Given the description of an element on the screen output the (x, y) to click on. 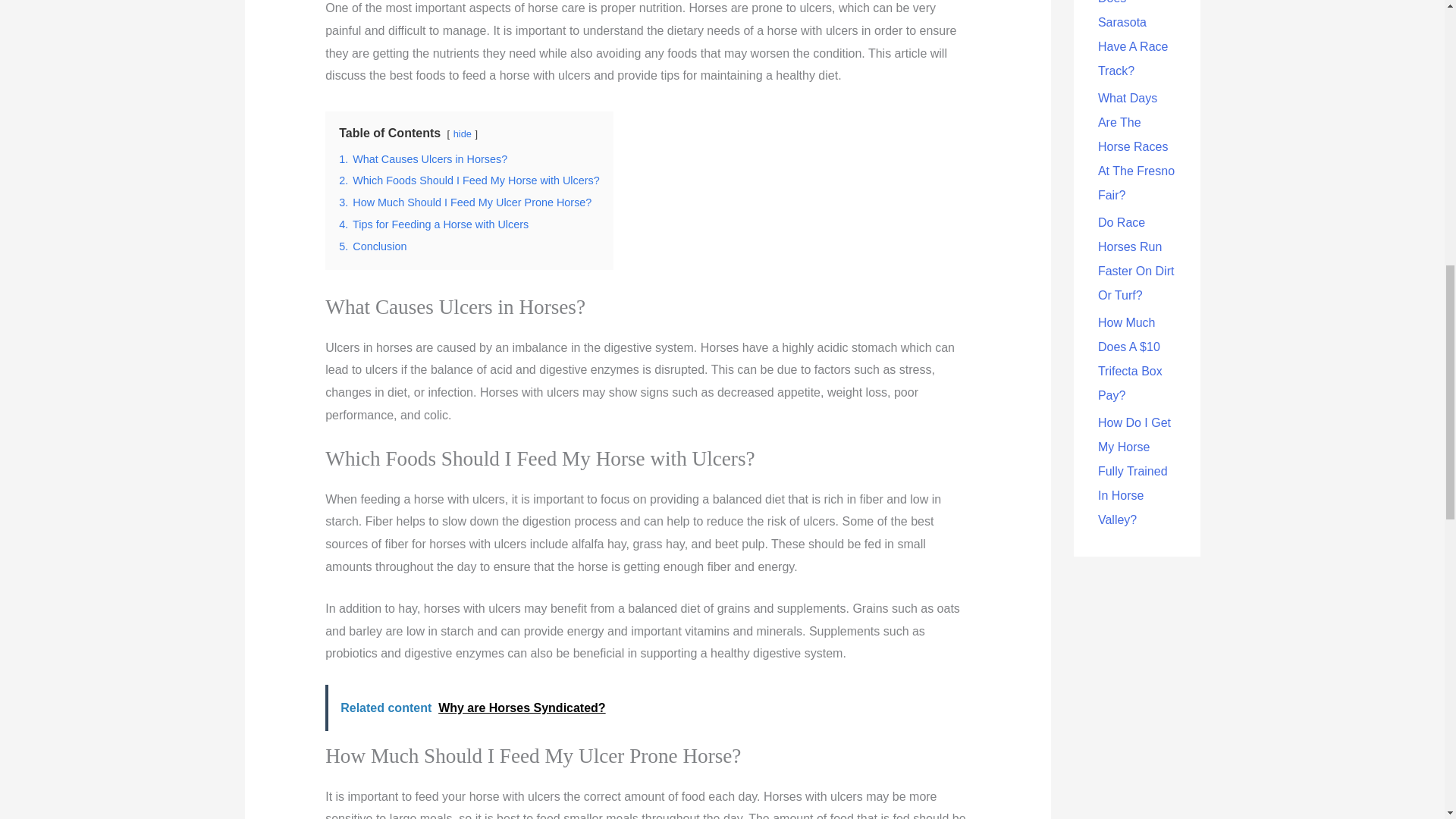
3. How Much Should I Feed My Ulcer Prone Horse? (465, 202)
hide (461, 133)
4. Tips for Feeding a Horse with Ulcers (433, 224)
5. Conclusion (372, 246)
2. Which Foods Should I Feed My Horse with Ulcers? (469, 180)
1. What Causes Ulcers in Horses? (422, 159)
Related content  Why are Horses Syndicated? (646, 708)
